Given the description of an element on the screen output the (x, y) to click on. 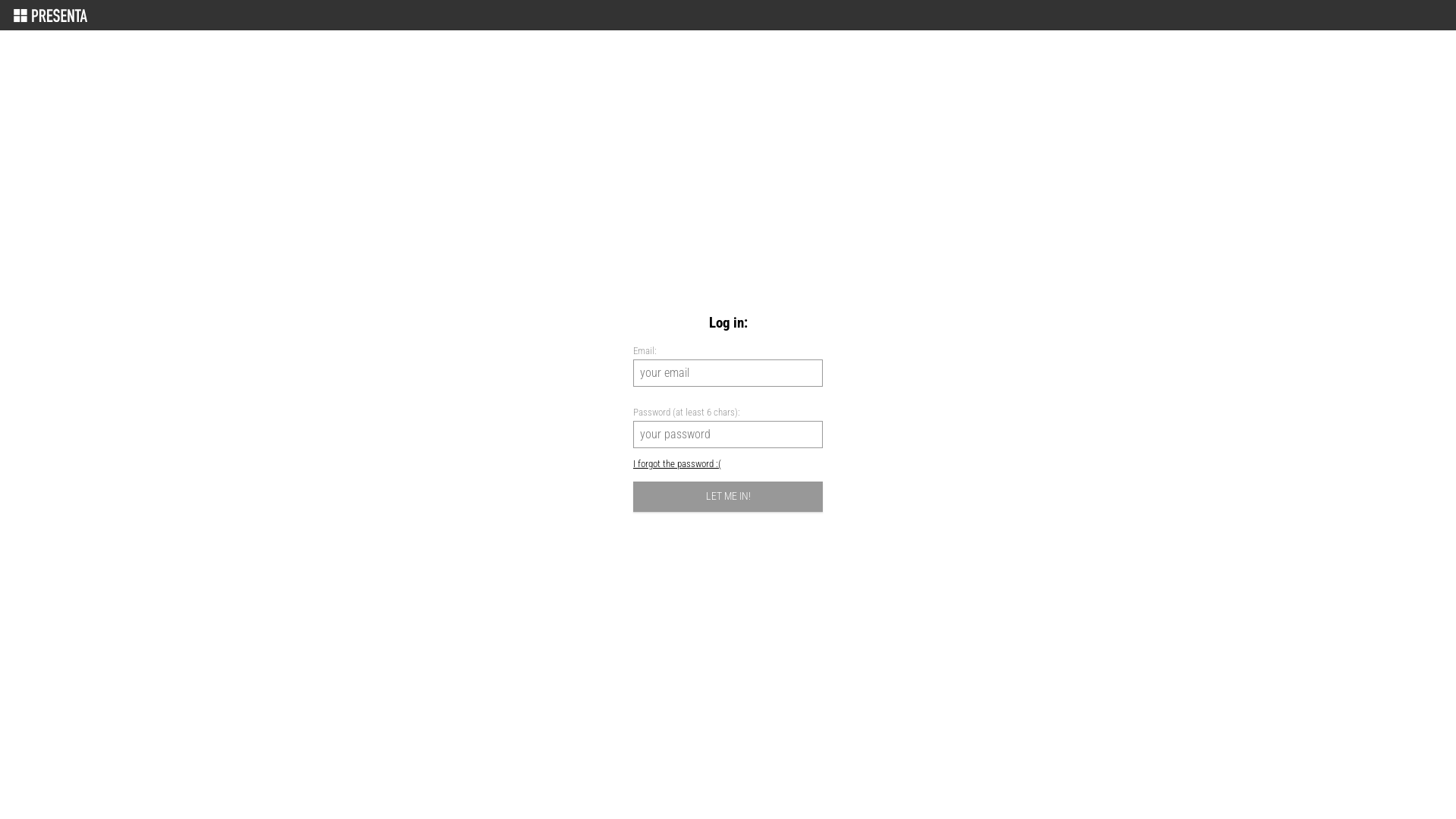
I forgot the password :( Element type: text (677, 463)
LET ME IN! Element type: text (727, 496)
